Given the description of an element on the screen output the (x, y) to click on. 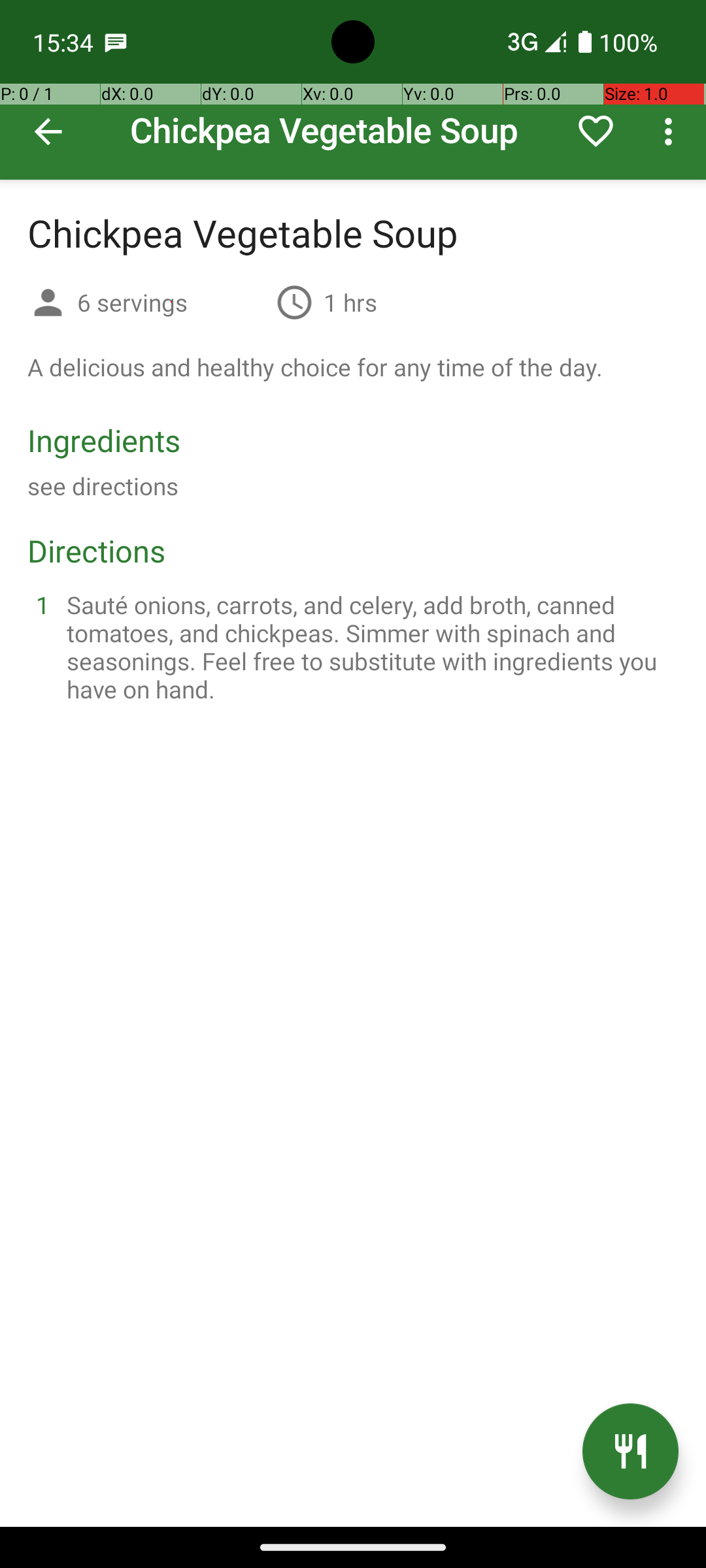
6 servings Element type: android.widget.TextView (170, 301)
1 hrs Element type: android.widget.TextView (350, 301)
see directions Element type: android.widget.TextView (102, 485)
Sauté onions, carrots, and celery, add broth, canned tomatoes, and chickpeas. Simmer with spinach and seasonings. Feel free to substitute with ingredients you have on hand. Element type: android.widget.TextView (368, 646)
